Given the description of an element on the screen output the (x, y) to click on. 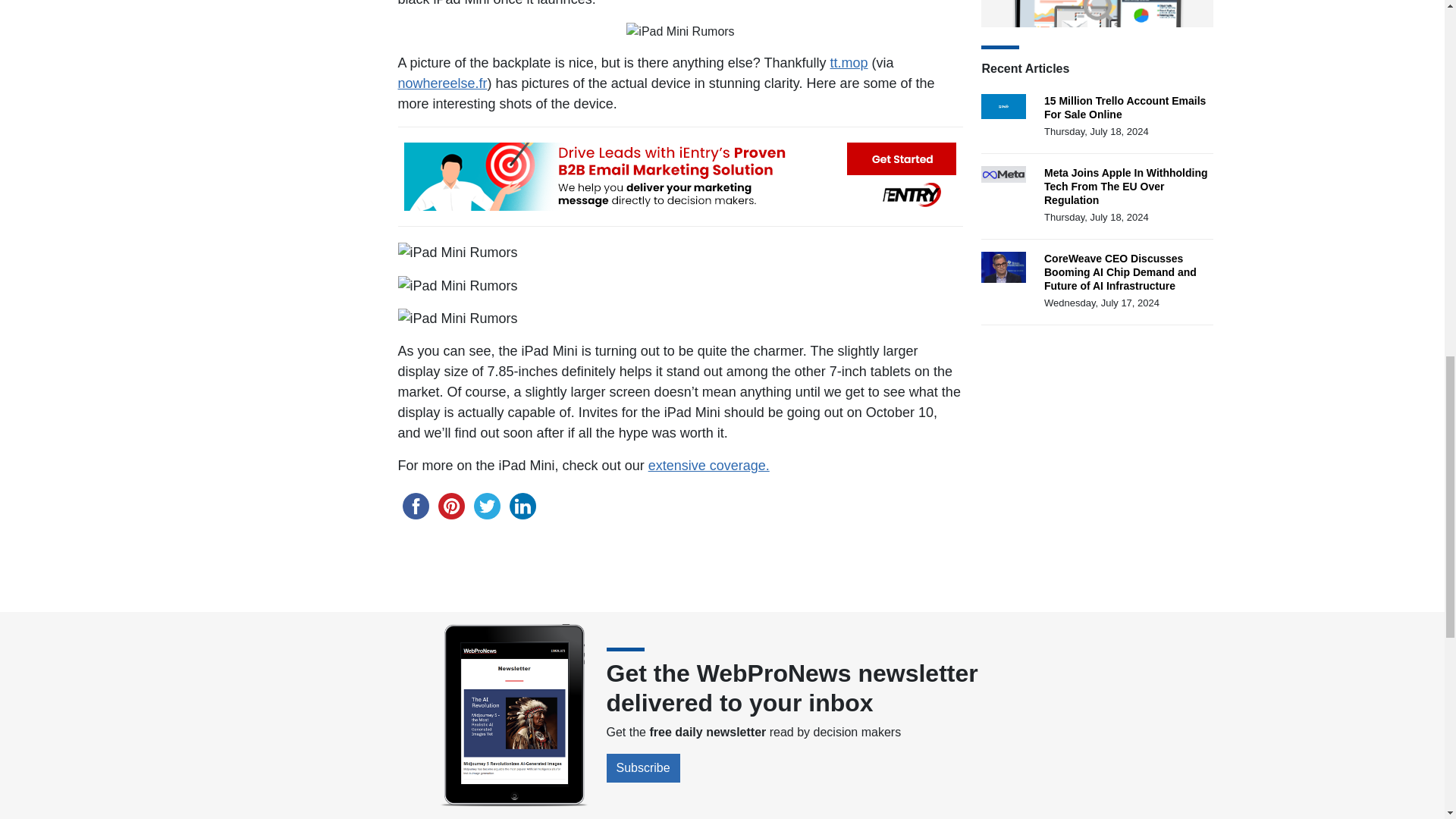
pinterest (450, 506)
facebook (414, 506)
twitter (485, 506)
